Given the description of an element on the screen output the (x, y) to click on. 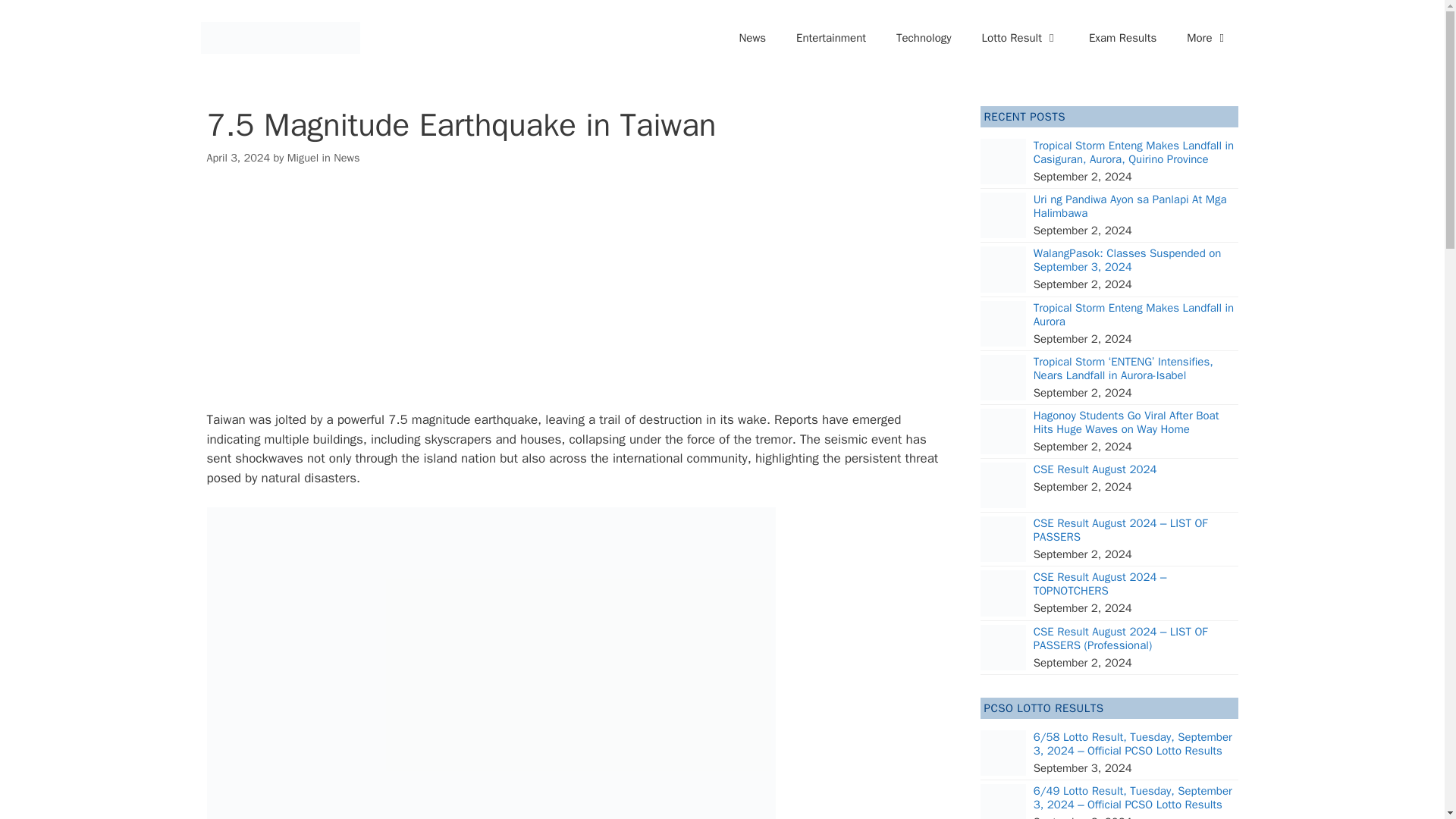
News (751, 37)
View all posts by Miguel (302, 157)
More (1207, 37)
Lotto Result (1020, 37)
Technology (923, 37)
Exam Results (1123, 37)
Entertainment (830, 37)
